Given the description of an element on the screen output the (x, y) to click on. 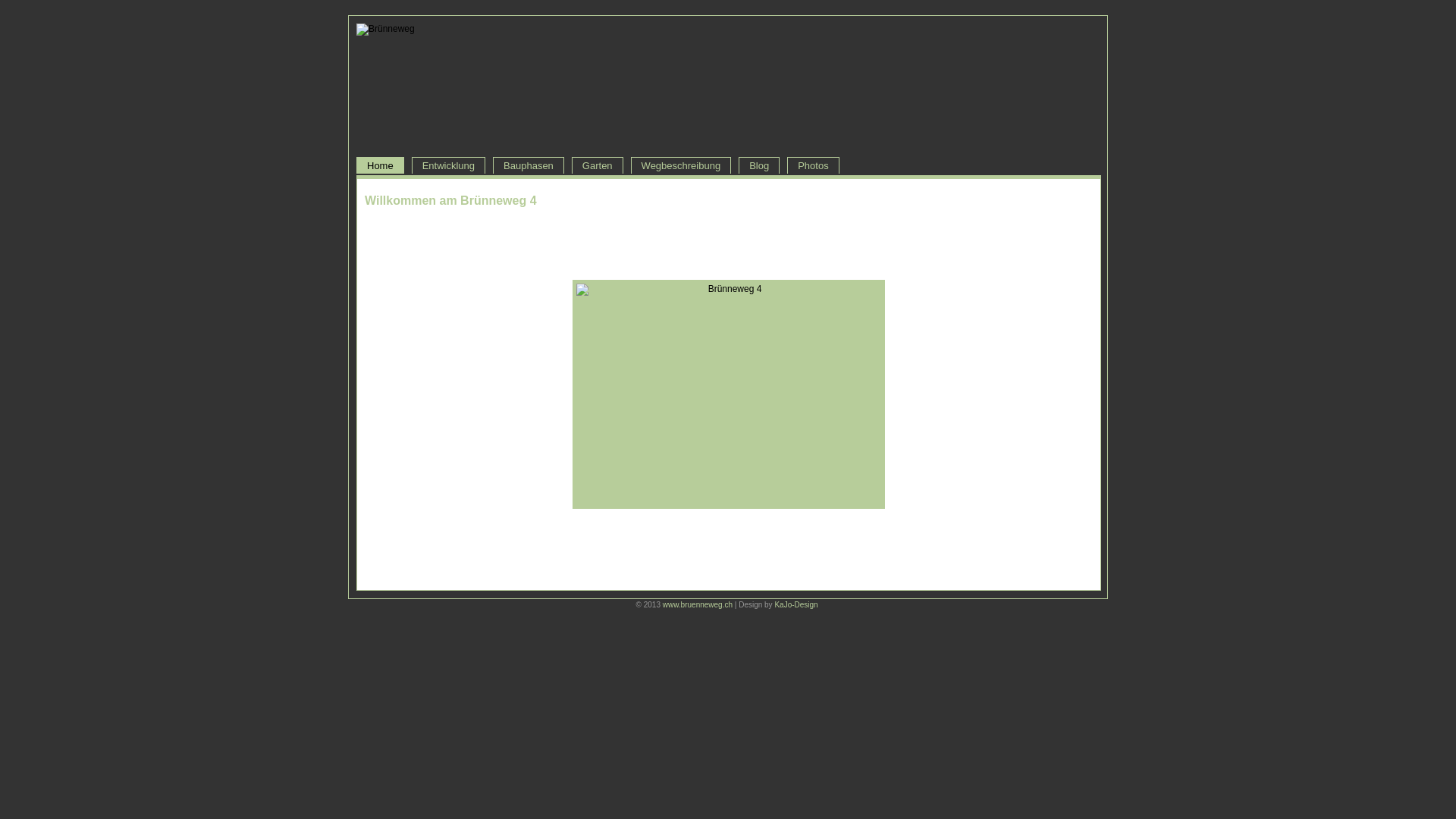
Blog Element type: text (758, 164)
Entwicklung Element type: text (448, 164)
KaJo-Design Element type: text (795, 604)
Home Element type: text (380, 164)
Wegbeschreibung Element type: text (680, 164)
www.bruenneweg.ch Element type: text (697, 604)
Photos Element type: text (812, 164)
Garten Element type: text (597, 164)
Bauphasen Element type: text (528, 164)
